Given the description of an element on the screen output the (x, y) to click on. 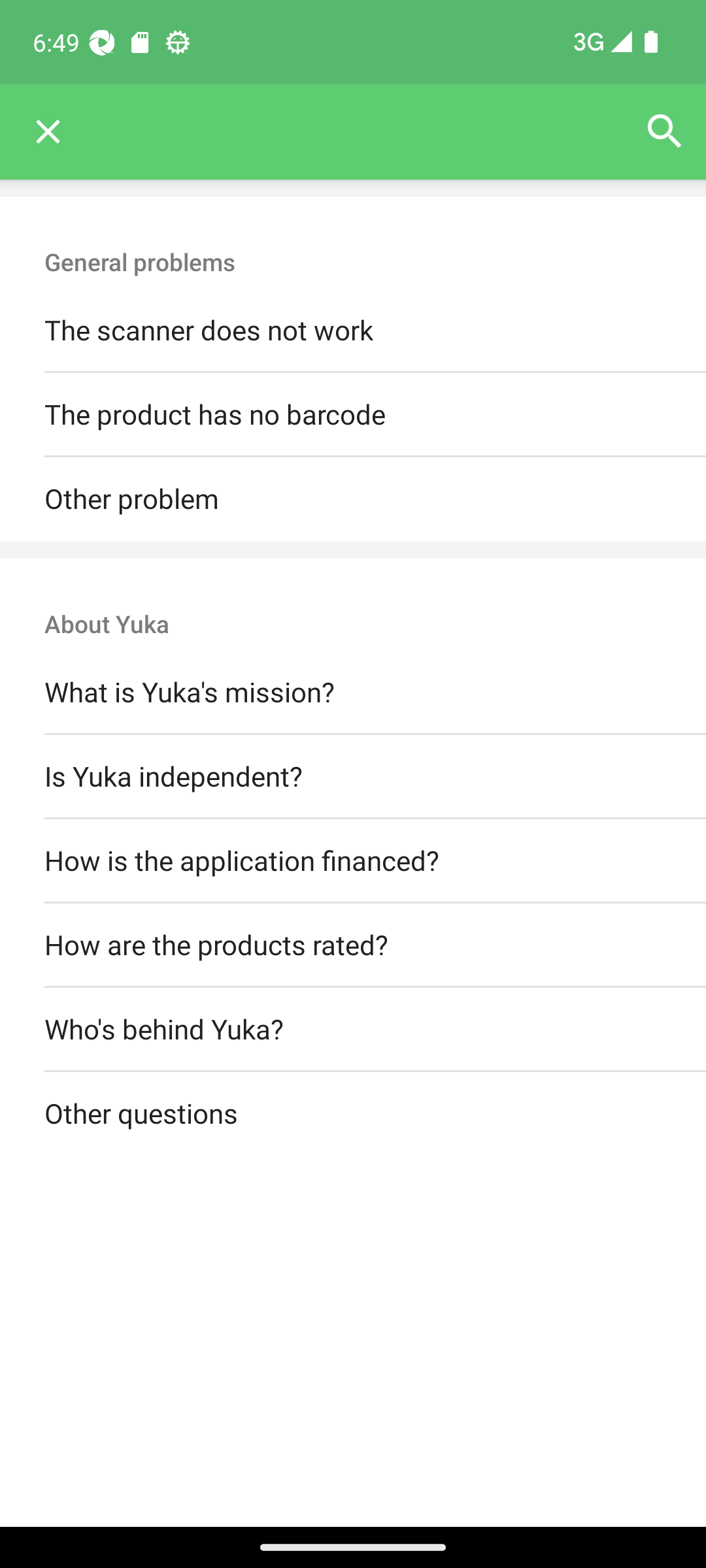
Search (664, 131)
The scanner does not work (353, 330)
The product has no barcode (353, 415)
Other problem (353, 498)
What is Yuka's mission? (353, 692)
Is Yuka independent? (353, 776)
How is the application financed? (353, 860)
How are the products rated? (353, 945)
Who's behind Yuka? (353, 1029)
Other questions (353, 1114)
